Given the description of an element on the screen output the (x, y) to click on. 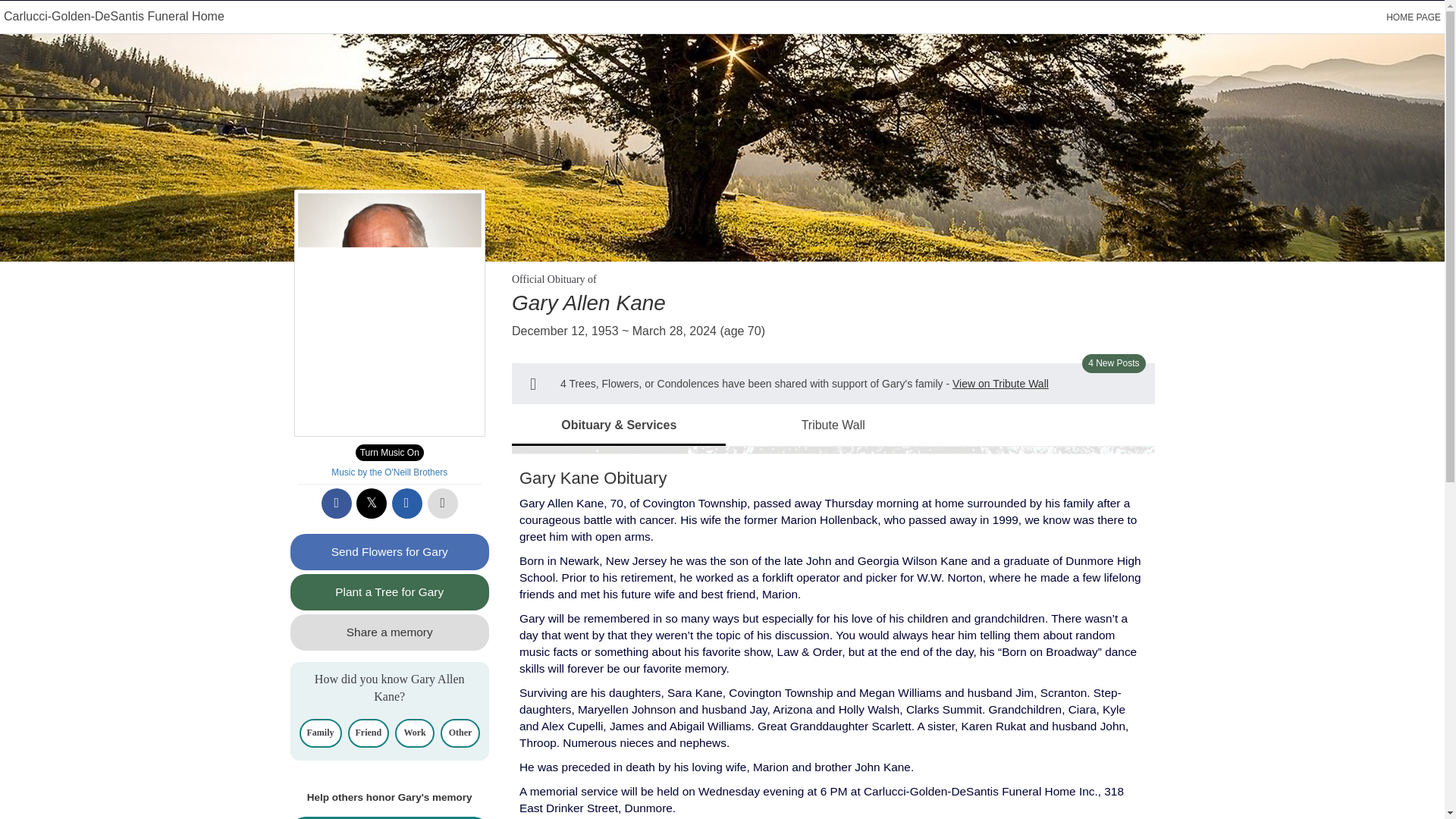
Share on X (371, 503)
Send Flowers for Gary (389, 551)
Music by the O'Neill Brothers (388, 471)
Share to Facebook (336, 503)
Share Obituary (389, 817)
Plant a Tree for Gary (389, 592)
Share via email (406, 503)
View on Tribute Wall (1000, 383)
HOME PAGE (1413, 17)
Turn Music On (389, 452)
Share a memory (389, 632)
Carlucci-Golden-DeSantis Funeral Home (114, 15)
Printable copy (443, 503)
